Given the description of an element on the screen output the (x, y) to click on. 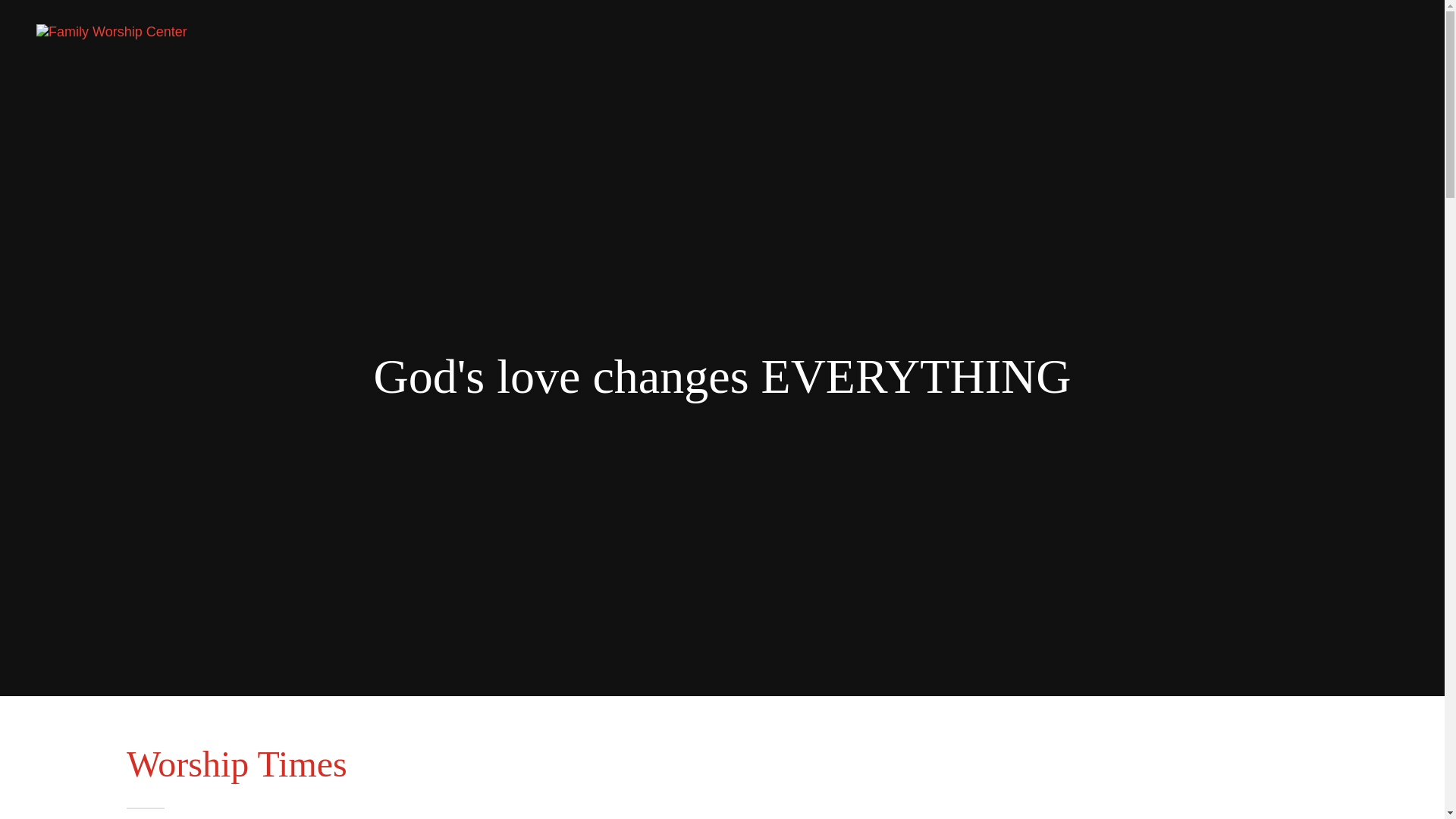
Family Worship Center (111, 31)
